Given the description of an element on the screen output the (x, y) to click on. 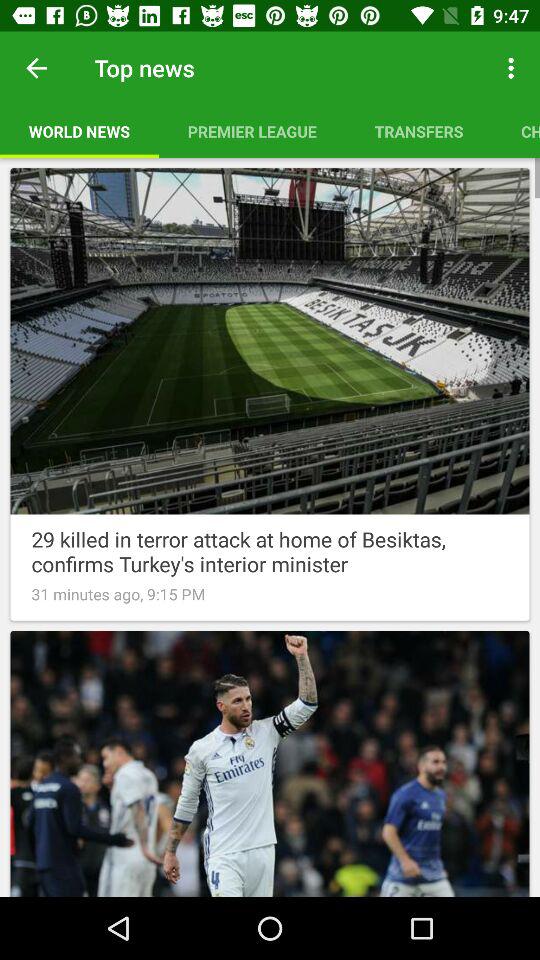
click the premier league icon (251, 131)
